Given the description of an element on the screen output the (x, y) to click on. 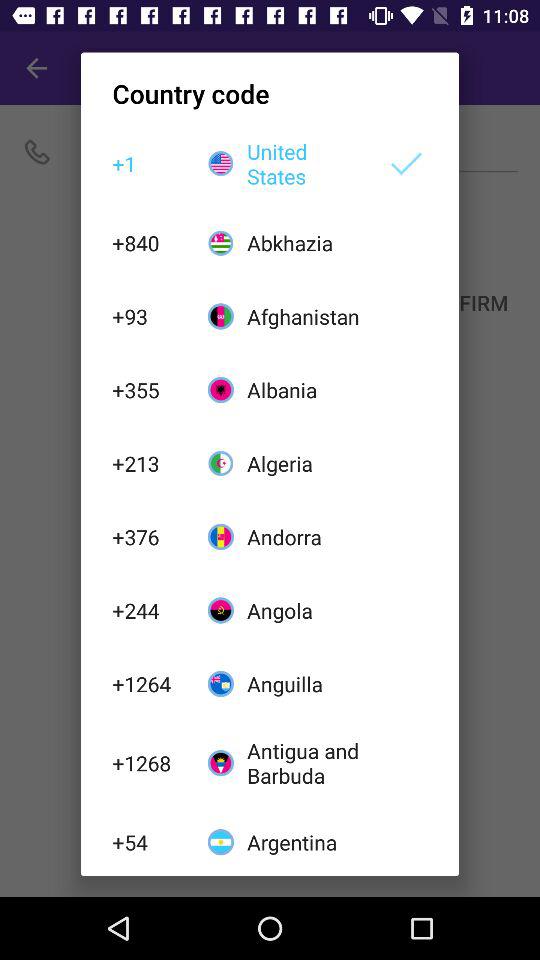
click the icon below +1264 (149, 762)
